Given the description of an element on the screen output the (x, y) to click on. 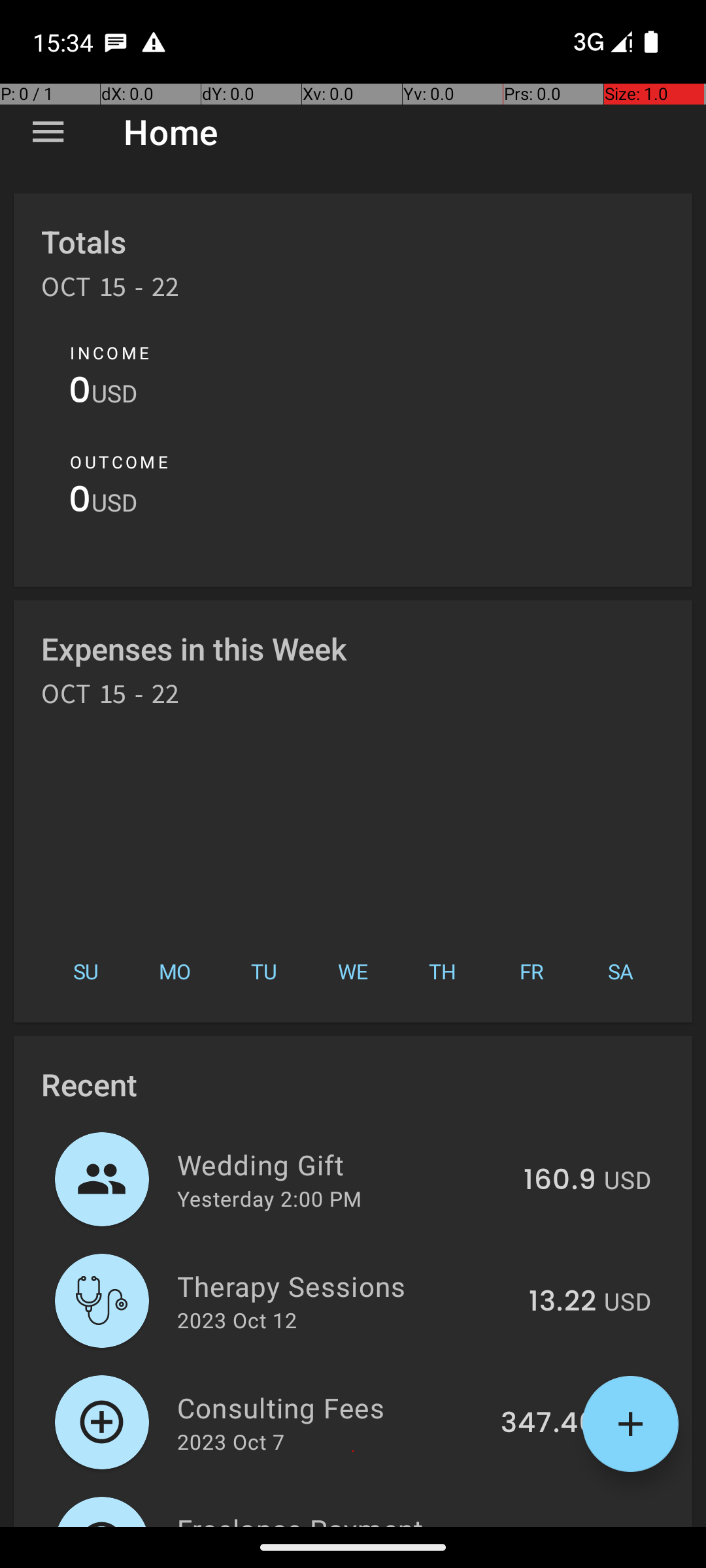
Wedding Gift Element type: android.widget.TextView (342, 1164)
Yesterday 2:00 PM Element type: android.widget.TextView (269, 1198)
160.9 Element type: android.widget.TextView (559, 1180)
Therapy Sessions Element type: android.widget.TextView (345, 1285)
2023 Oct 12 Element type: android.widget.TextView (236, 1320)
13.22 Element type: android.widget.TextView (562, 1301)
Consulting Fees Element type: android.widget.TextView (331, 1407)
2023 Oct 7 Element type: android.widget.TextView (230, 1441)
347.46 Element type: android.widget.TextView (548, 1423)
Freelance Payment Element type: android.widget.TextView (331, 1518)
404.32 Element type: android.widget.TextView (548, 1524)
